Given the description of an element on the screen output the (x, y) to click on. 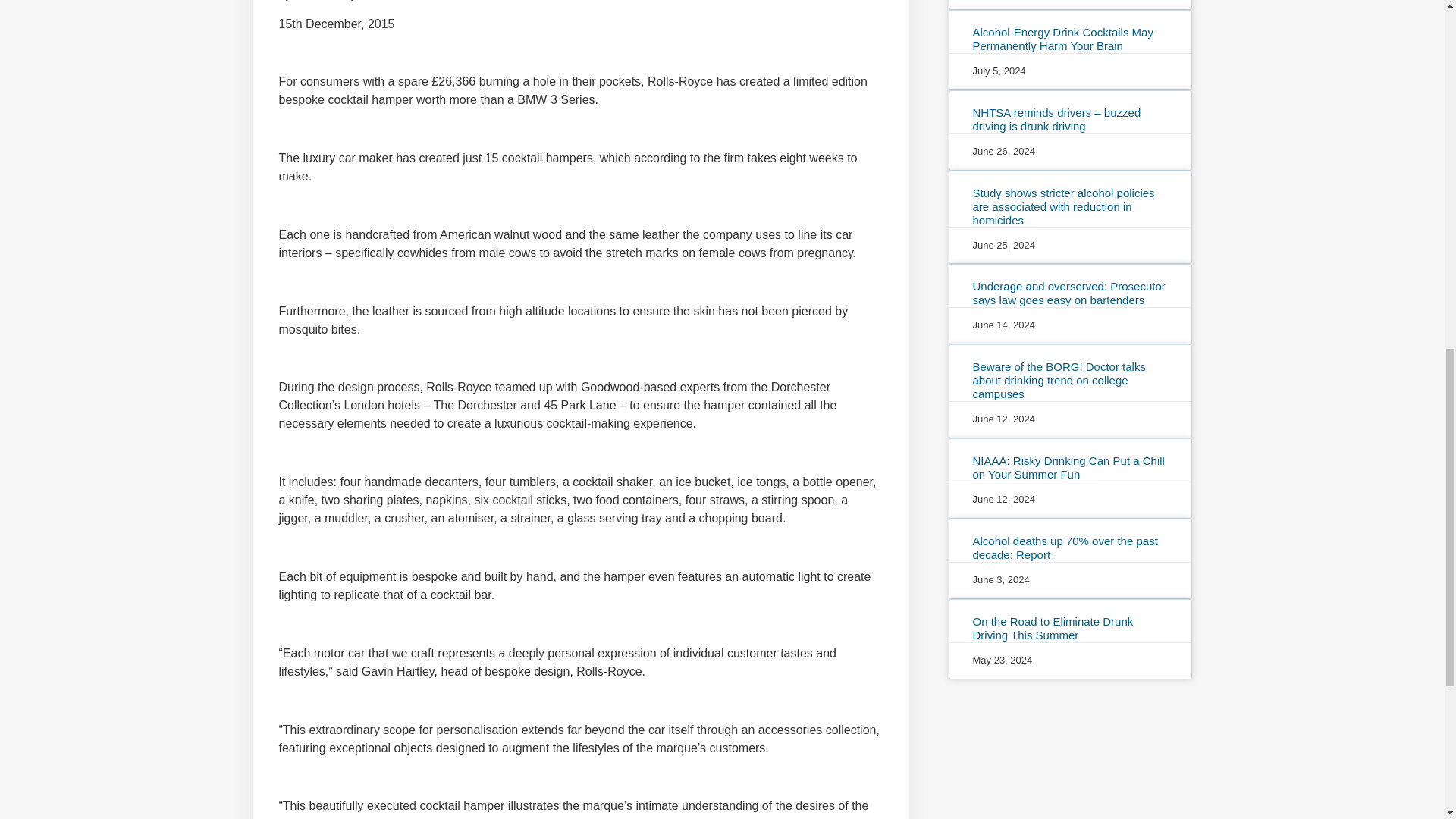
On the Road to Eliminate Drunk Driving This Summer (1052, 628)
NIAAA: Risky Drinking Can Put a Chill on Your Summer Fun (1067, 467)
